Given the description of an element on the screen output the (x, y) to click on. 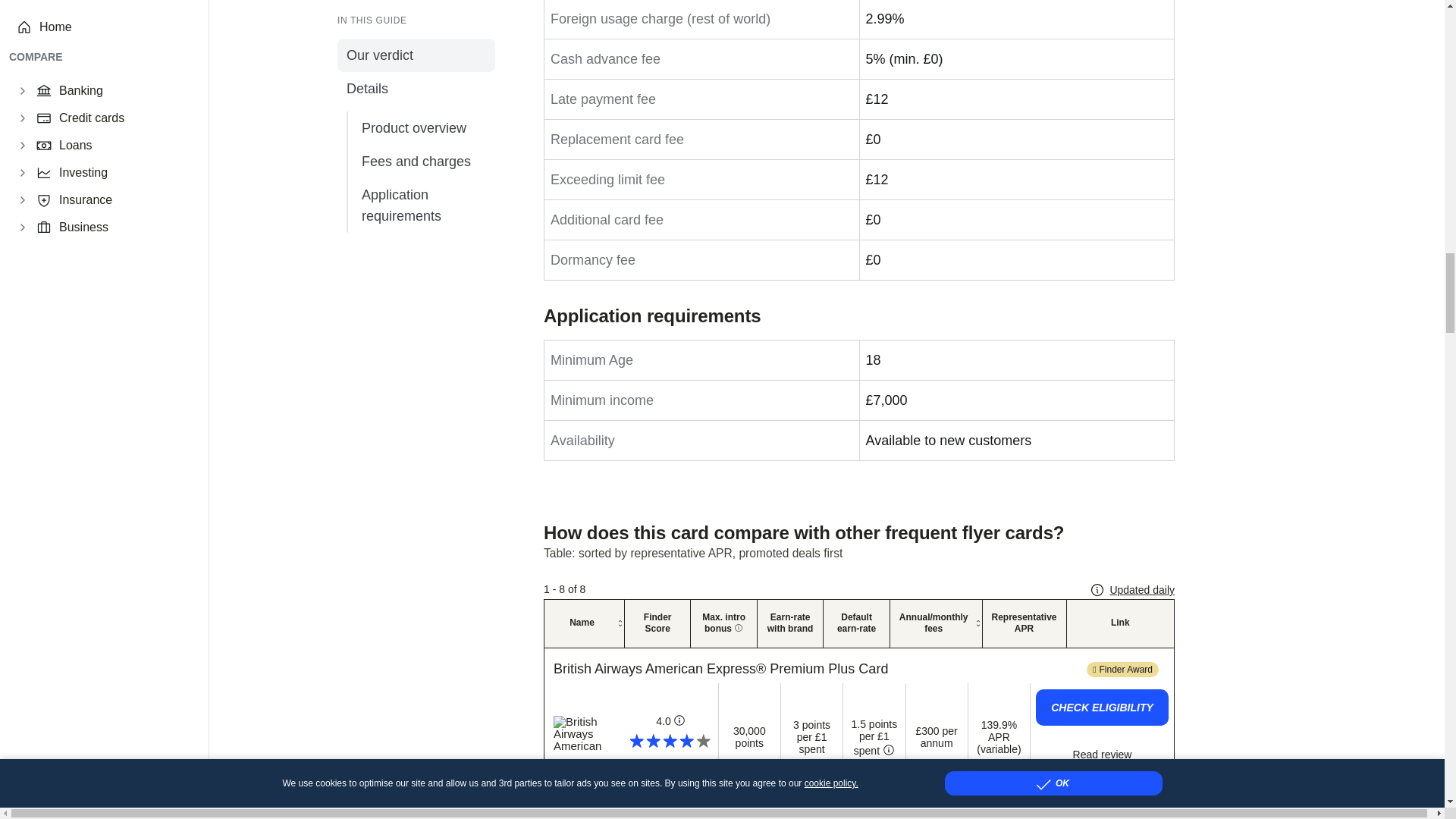
Visit American Express (720, 668)
Read more about this card (1102, 754)
Check eligibility (1102, 707)
Visit American Express (583, 733)
